Given the description of an element on the screen output the (x, y) to click on. 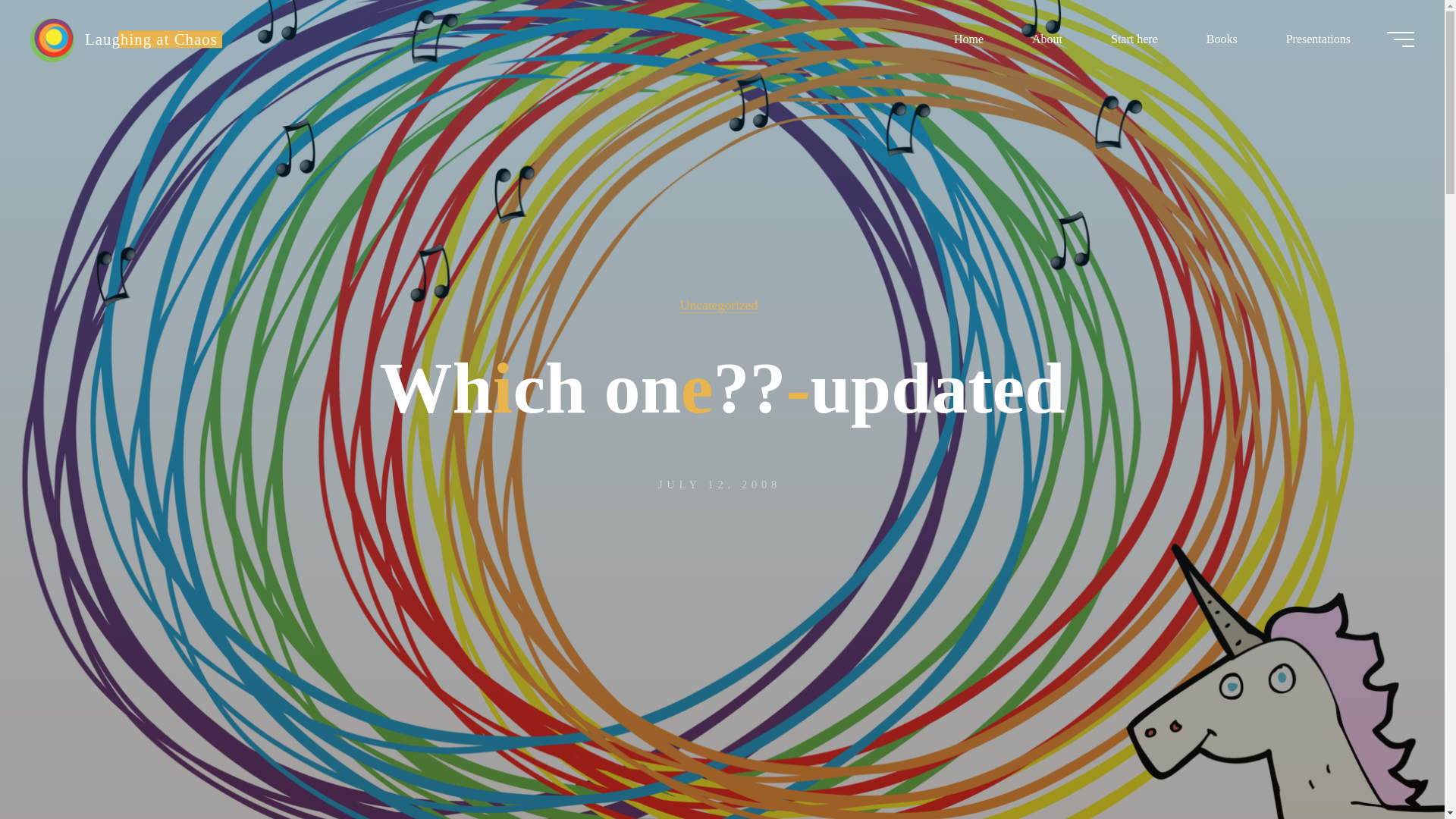
Uncategorized (718, 304)
Laughing at Chaos (52, 38)
Books (1222, 38)
Home (968, 38)
Read more (721, 724)
Presentations (1318, 38)
About (1046, 38)
Laughing at Chaos (151, 38)
where wildly different is perfectly normal (151, 38)
Start here (1134, 38)
